Given the description of an element on the screen output the (x, y) to click on. 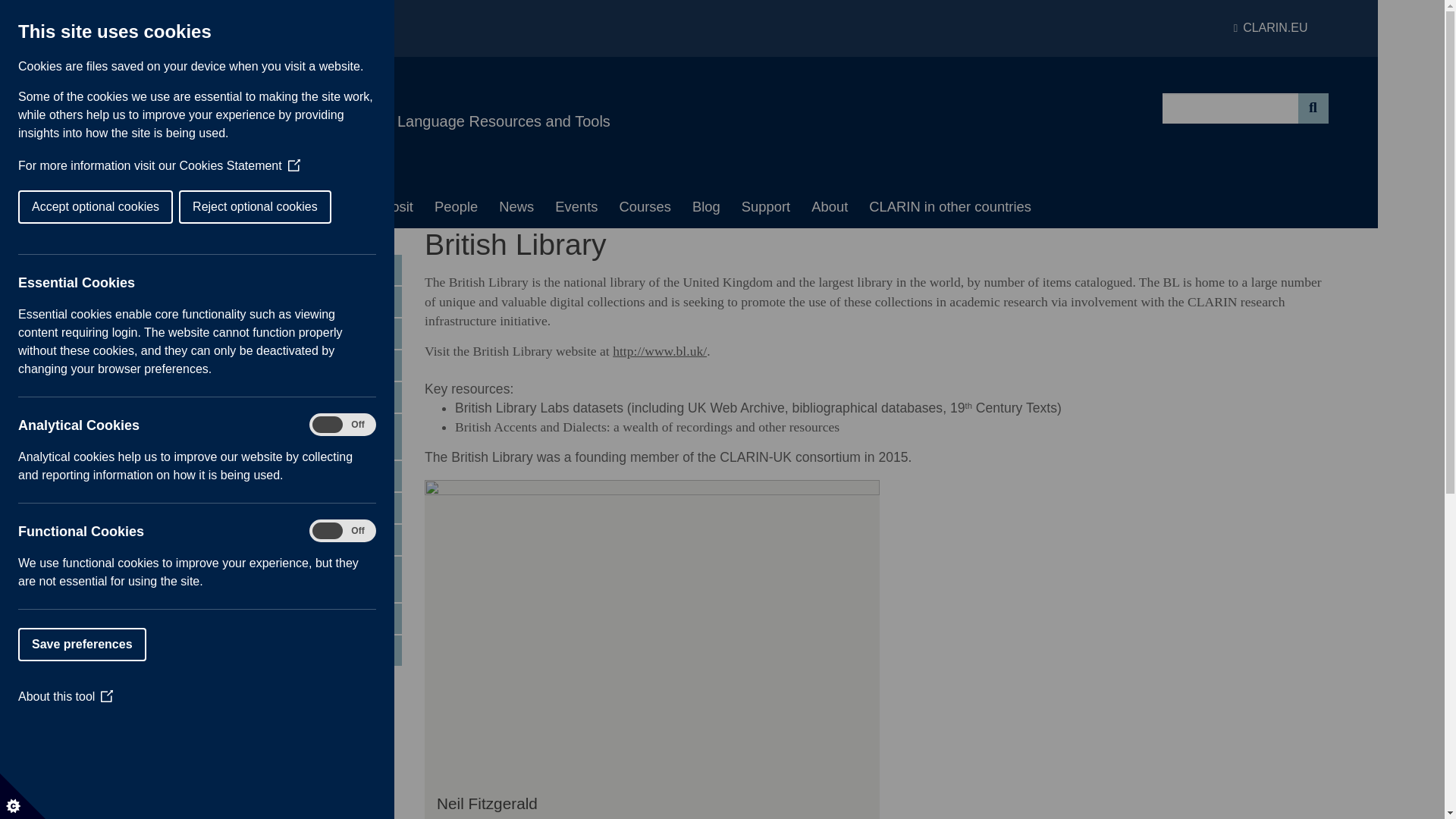
CLARIN.EU (1270, 28)
CLARIN (1270, 28)
Centres (215, 206)
Search (1312, 108)
Enter the terms you wish to search for (1229, 108)
CLARIN-UK (307, 91)
Reject optional cookies (30, 206)
Resources (305, 206)
Home (144, 206)
